Given the description of an element on the screen output the (x, y) to click on. 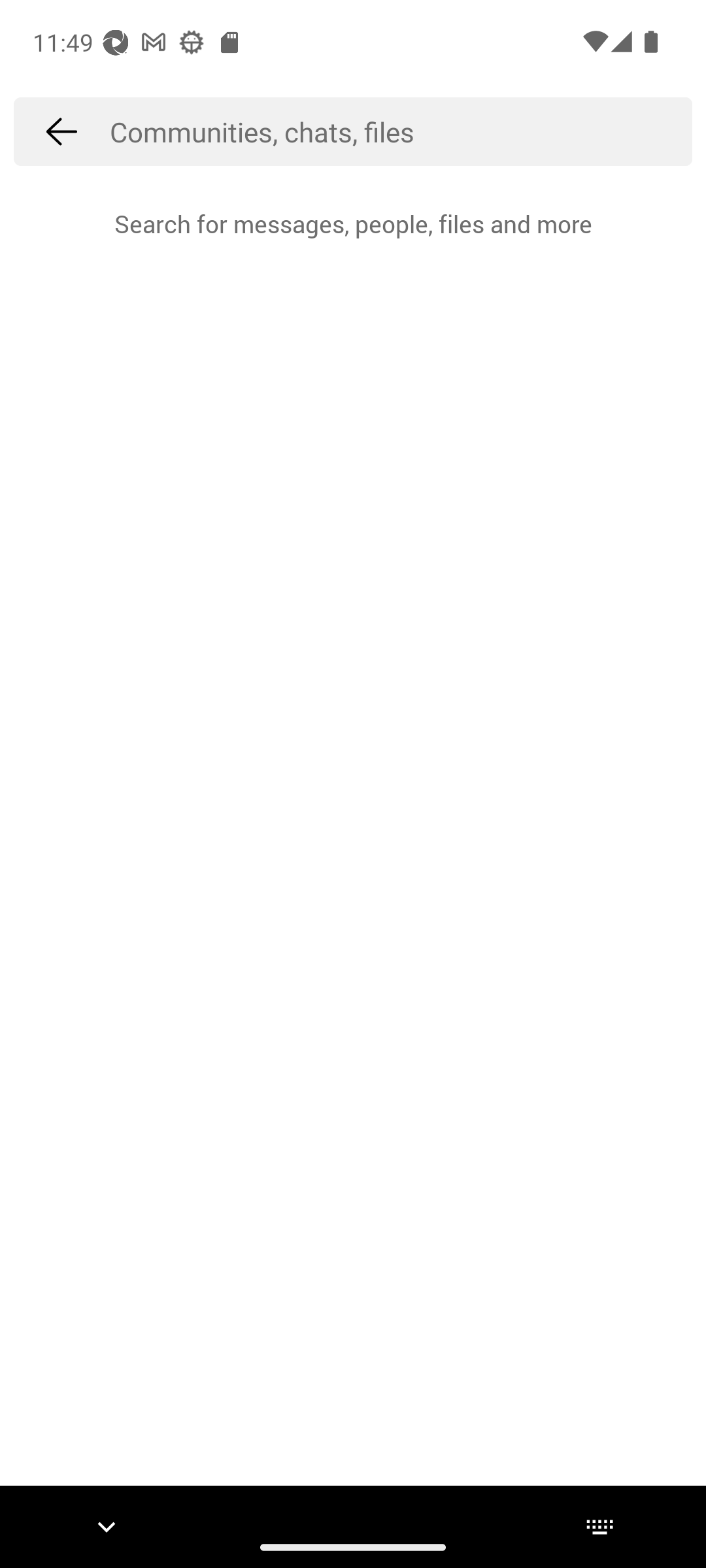
Back (61, 131)
Search for communities, chats, files and more (401, 131)
